Given the description of an element on the screen output the (x, y) to click on. 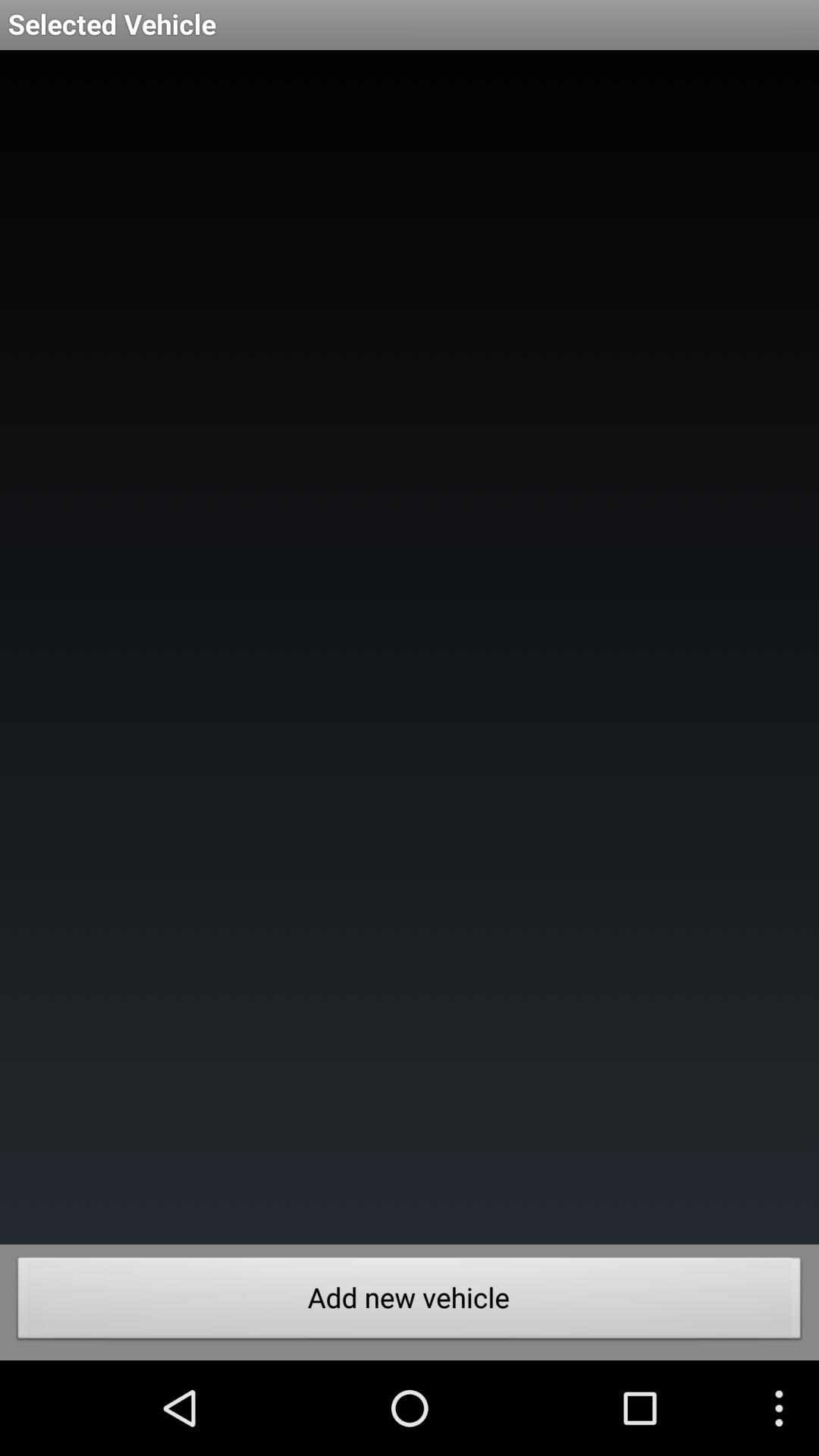
press icon below selected vehicle app (409, 647)
